Given the description of an element on the screen output the (x, y) to click on. 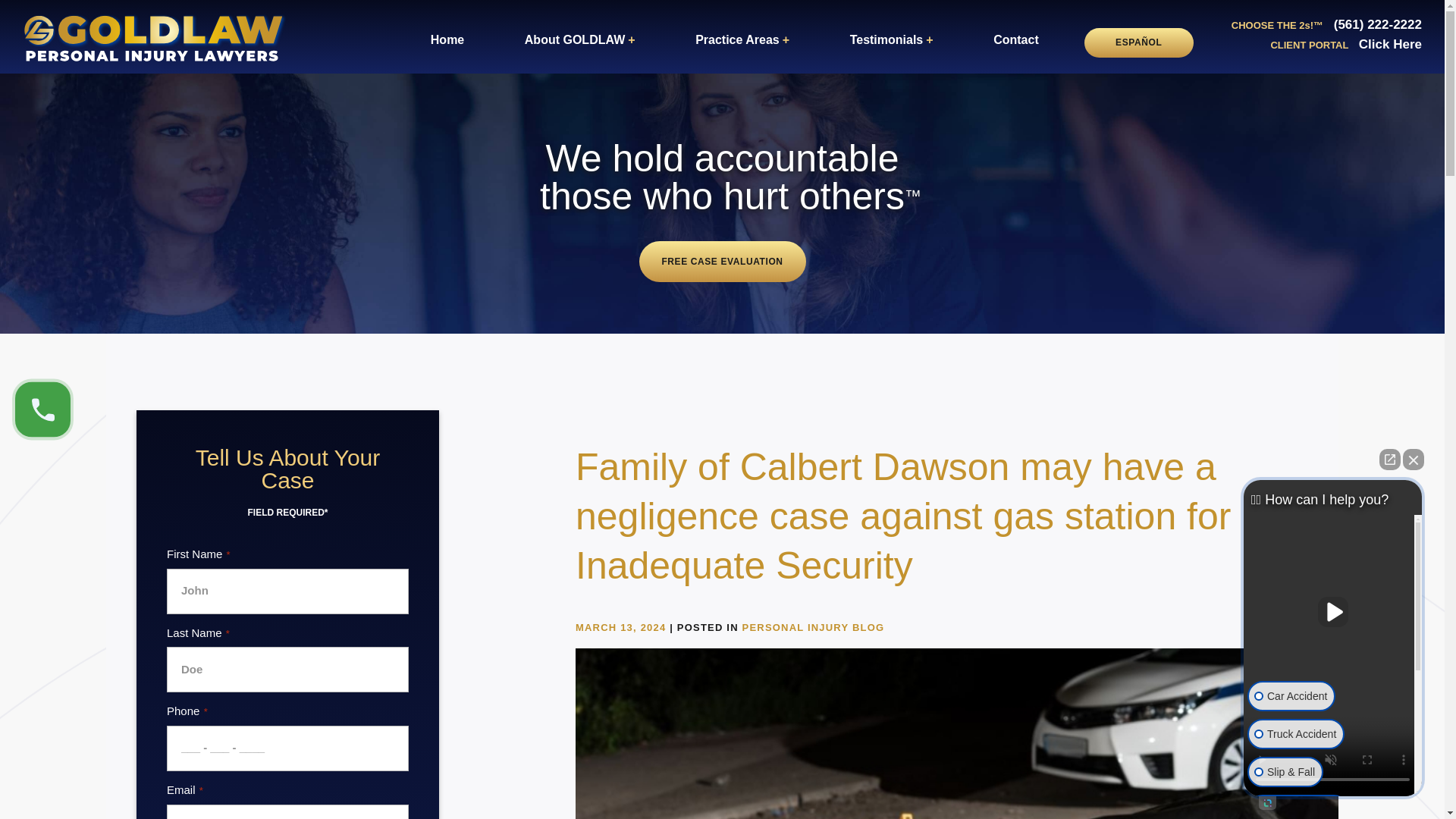
About GOLDLAW (579, 39)
Home (447, 39)
